Given the description of an element on the screen output the (x, y) to click on. 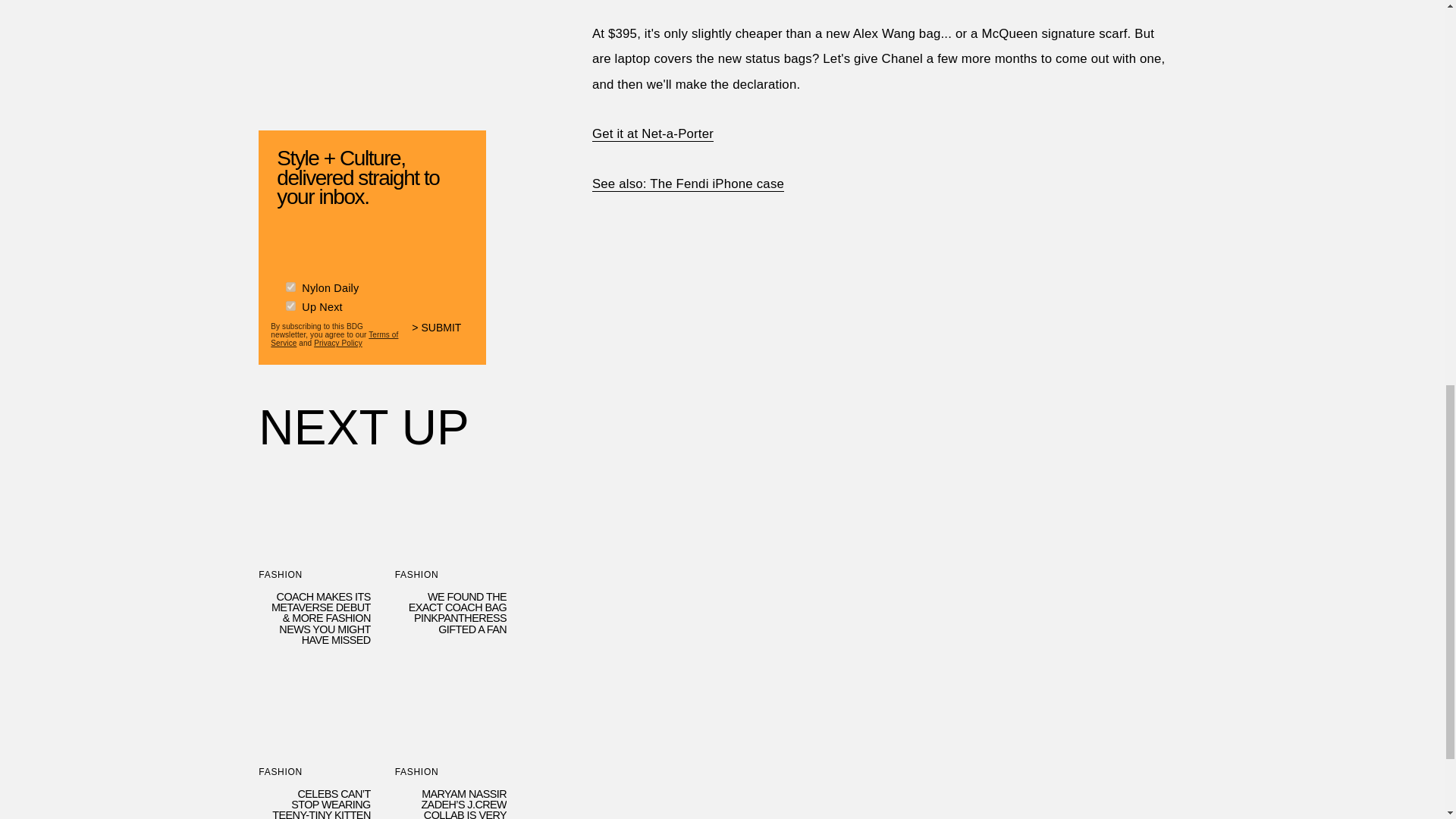
Terms of Service (333, 335)
Privacy Policy (338, 340)
See also: The Fendi iPhone case (688, 183)
Get it at Net-a-Porter (652, 133)
SUBMIT (443, 332)
